Given the description of an element on the screen output the (x, y) to click on. 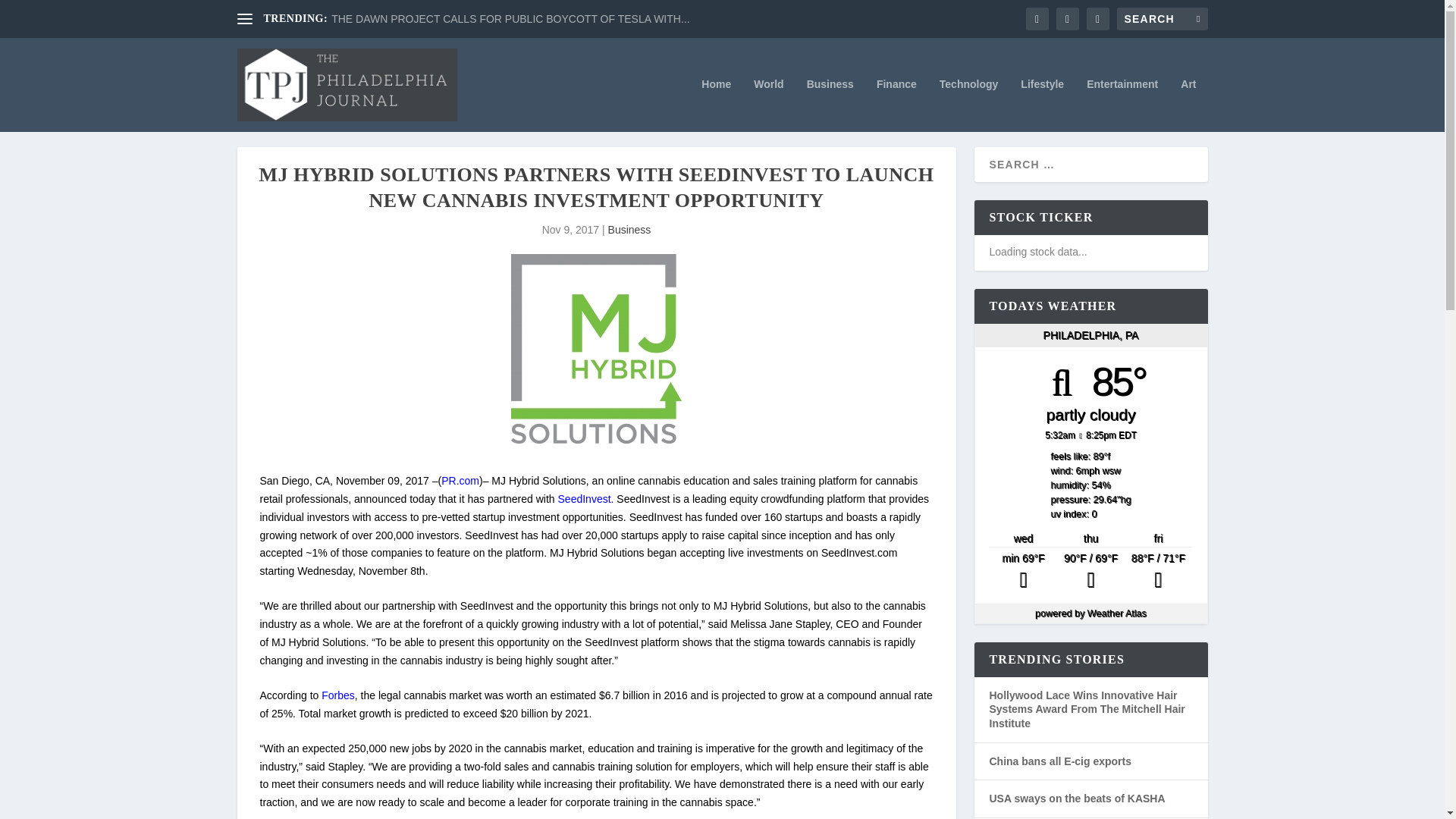
Business (629, 229)
Search for: (1161, 18)
PM Thunderstorms (1158, 571)
Entertainment (1121, 104)
THE DAWN PROJECT CALLS FOR PUBLIC BOYCOTT OF TESLA WITH... (509, 19)
PR.com (460, 480)
SeedInvest (584, 499)
Thunderstorms Early (1023, 571)
Technology (968, 104)
Forbes (338, 695)
